Given the description of an element on the screen output the (x, y) to click on. 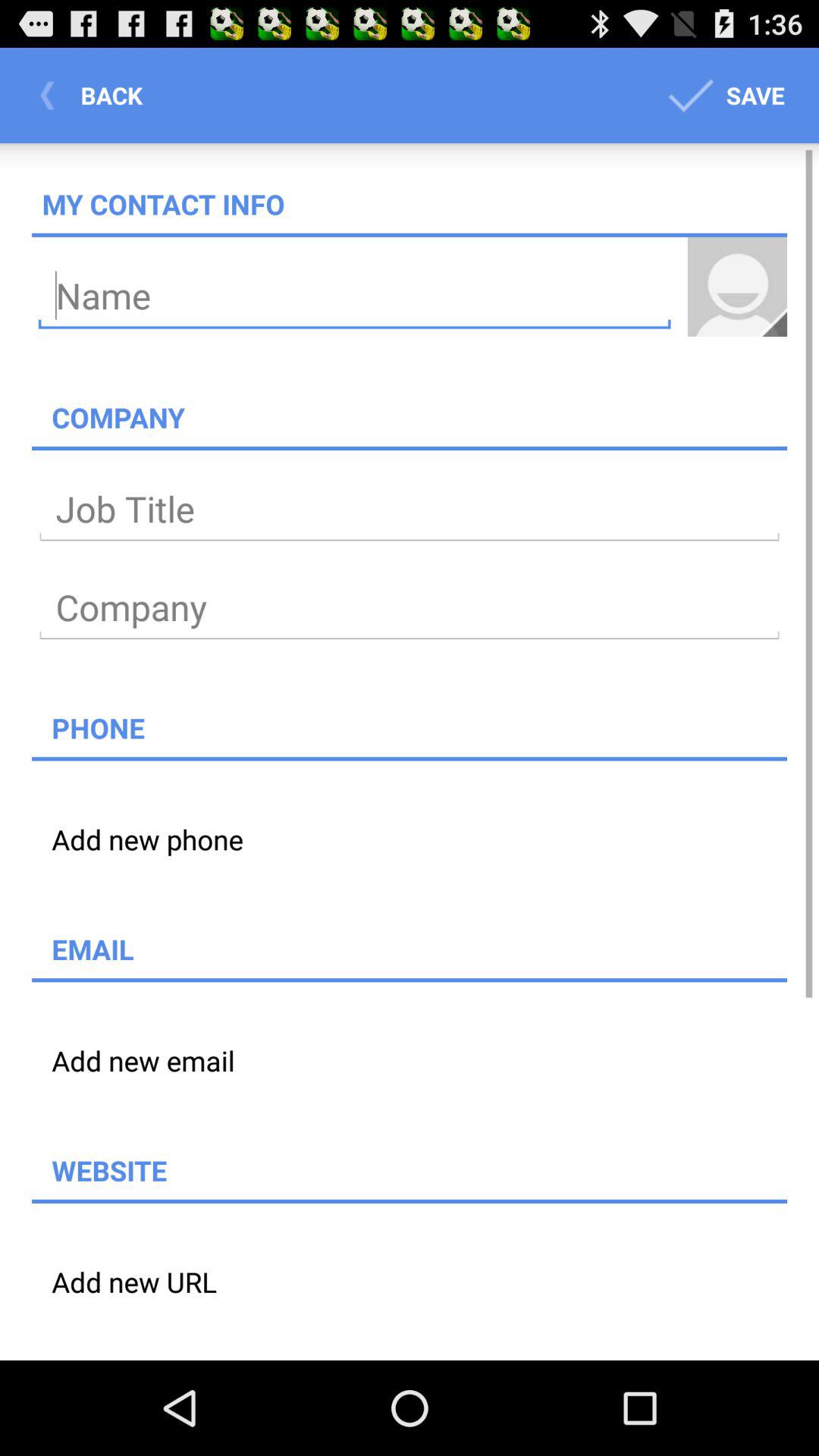
name input area (354, 296)
